Given the description of an element on the screen output the (x, y) to click on. 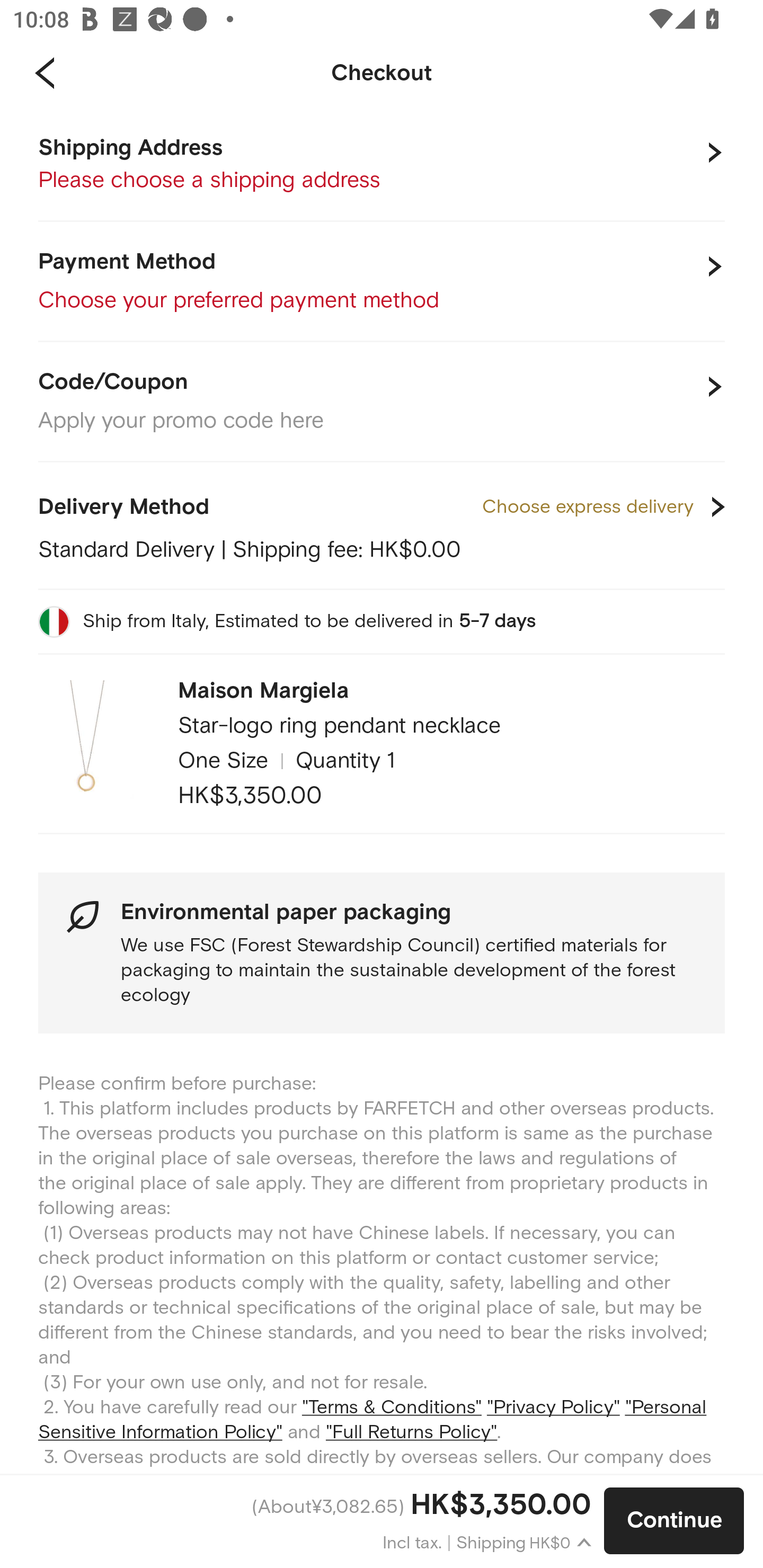
Shipping Address Please choose a shipping address (381, 165)
Code/Coupon Apply your promo code here (381, 401)
Continue (673, 1520)
